Given the description of an element on the screen output the (x, y) to click on. 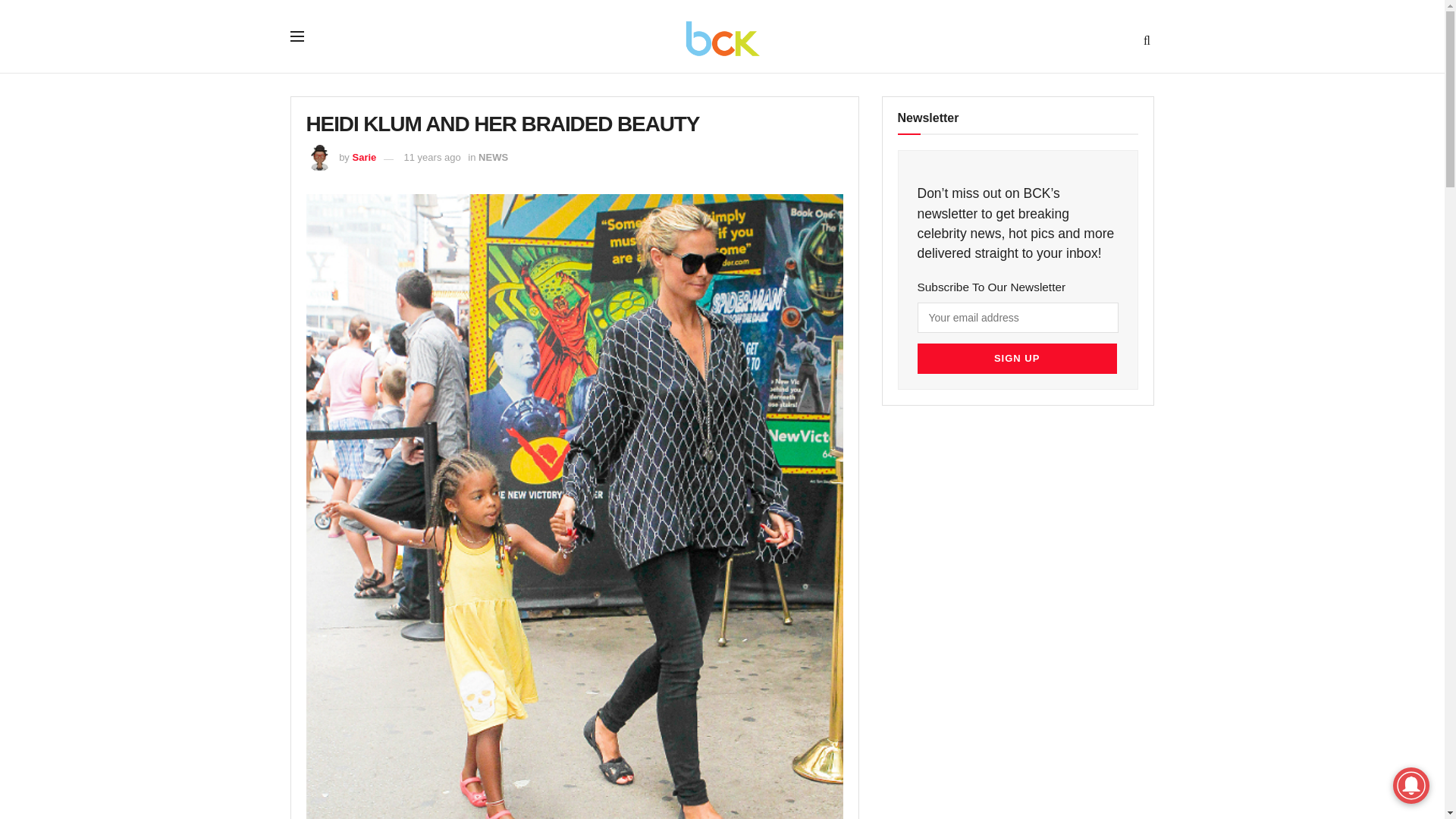
NEWS (493, 156)
11 years ago (432, 156)
Sarie (363, 156)
Sign up (1016, 358)
